Given the description of an element on the screen output the (x, y) to click on. 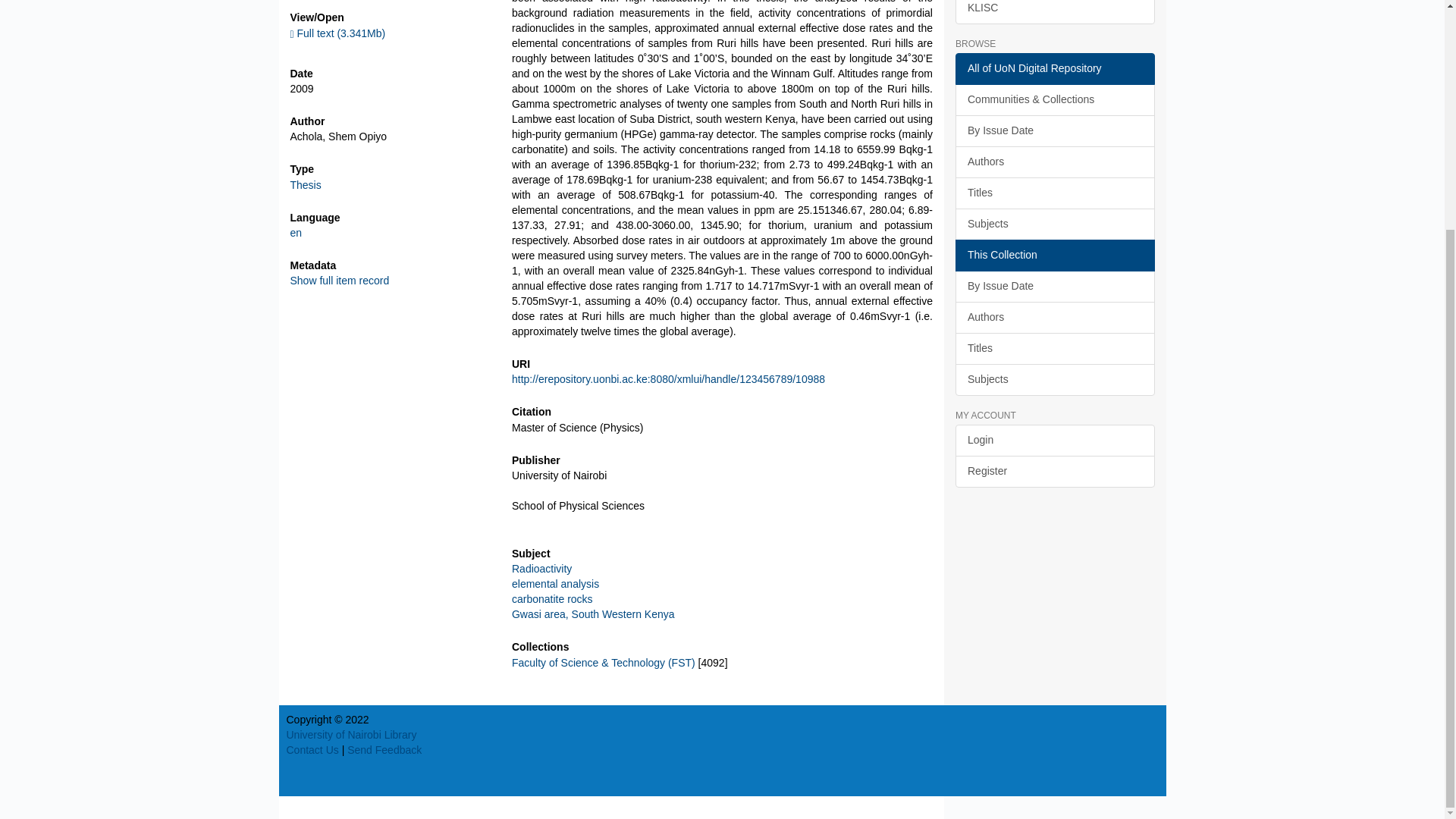
carbonatite rocks (552, 598)
Show full item record (338, 280)
All of UoN Digital Repository (1054, 69)
Gwasi area, South Western Kenya (593, 613)
KLISC (1054, 12)
elemental analysis (555, 583)
This Collection (1054, 255)
Titles (1054, 193)
Authors (1054, 162)
Radioactivity (542, 568)
